Given the description of an element on the screen output the (x, y) to click on. 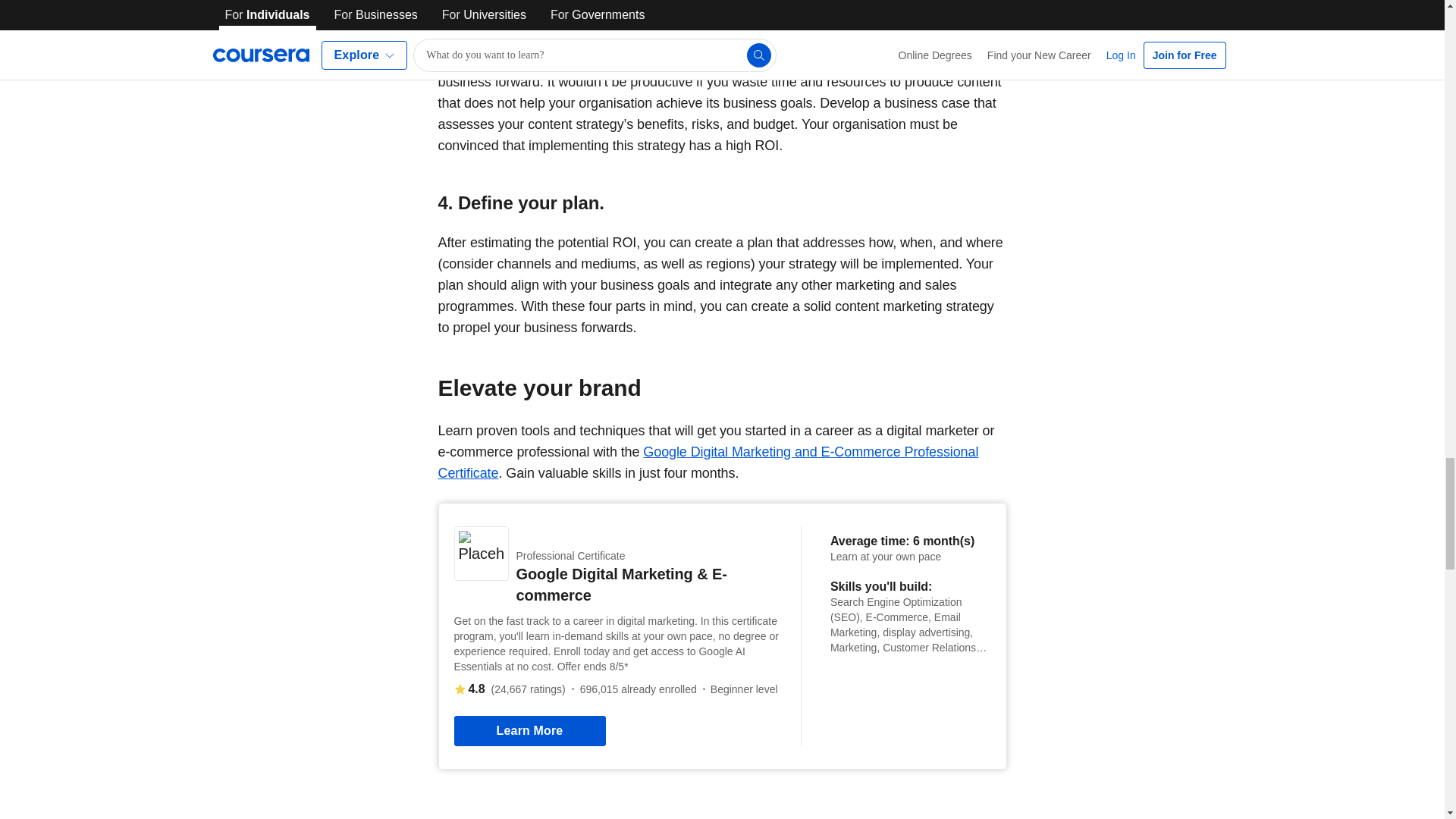
Learn More (528, 730)
